Given the description of an element on the screen output the (x, y) to click on. 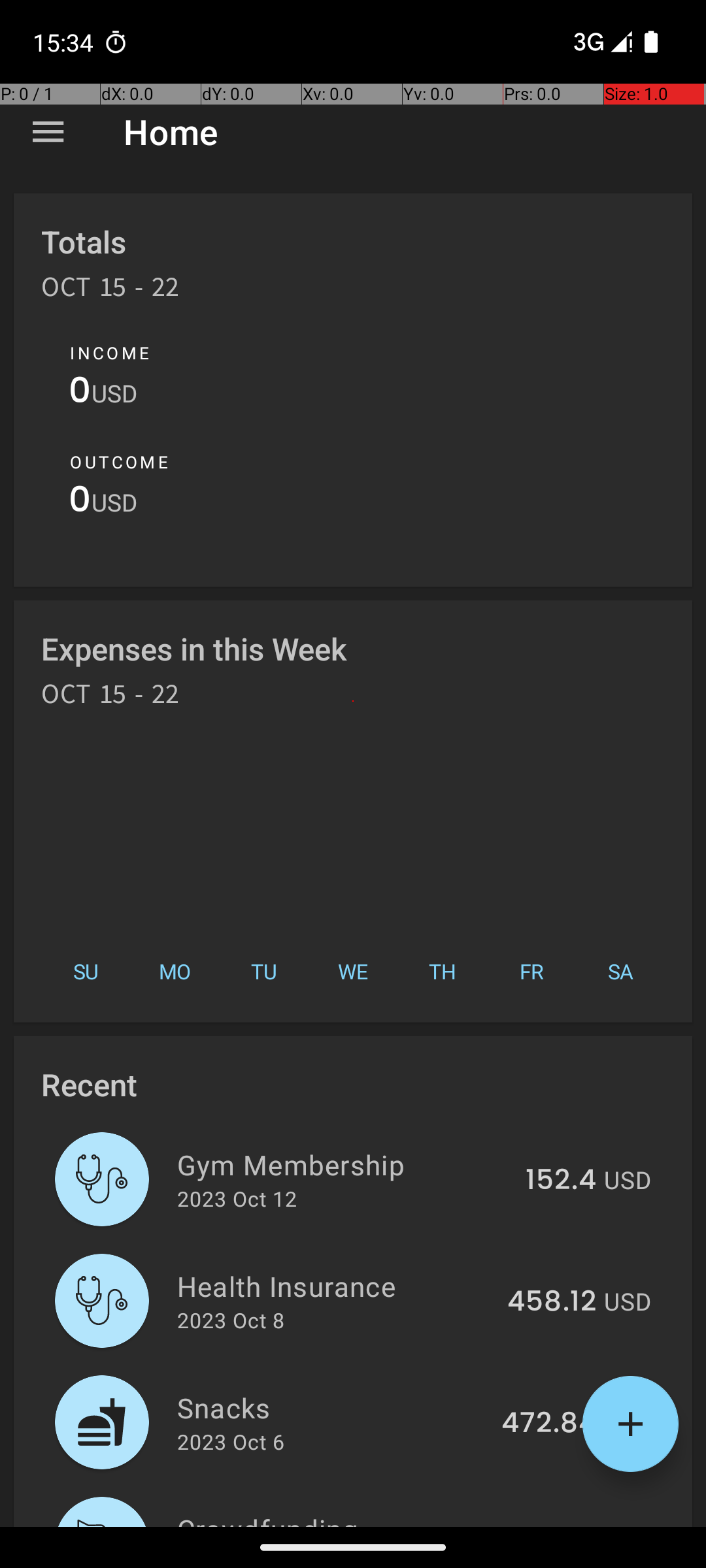
Gym Membership Element type: android.widget.TextView (343, 1164)
152.4 Element type: android.widget.TextView (560, 1180)
Health Insurance Element type: android.widget.TextView (334, 1285)
458.12 Element type: android.widget.TextView (551, 1301)
Snacks Element type: android.widget.TextView (331, 1407)
472.84 Element type: android.widget.TextView (548, 1423)
Crowdfunding Element type: android.widget.TextView (335, 1518)
292.19 Element type: android.widget.TextView (552, 1524)
